Given the description of an element on the screen output the (x, y) to click on. 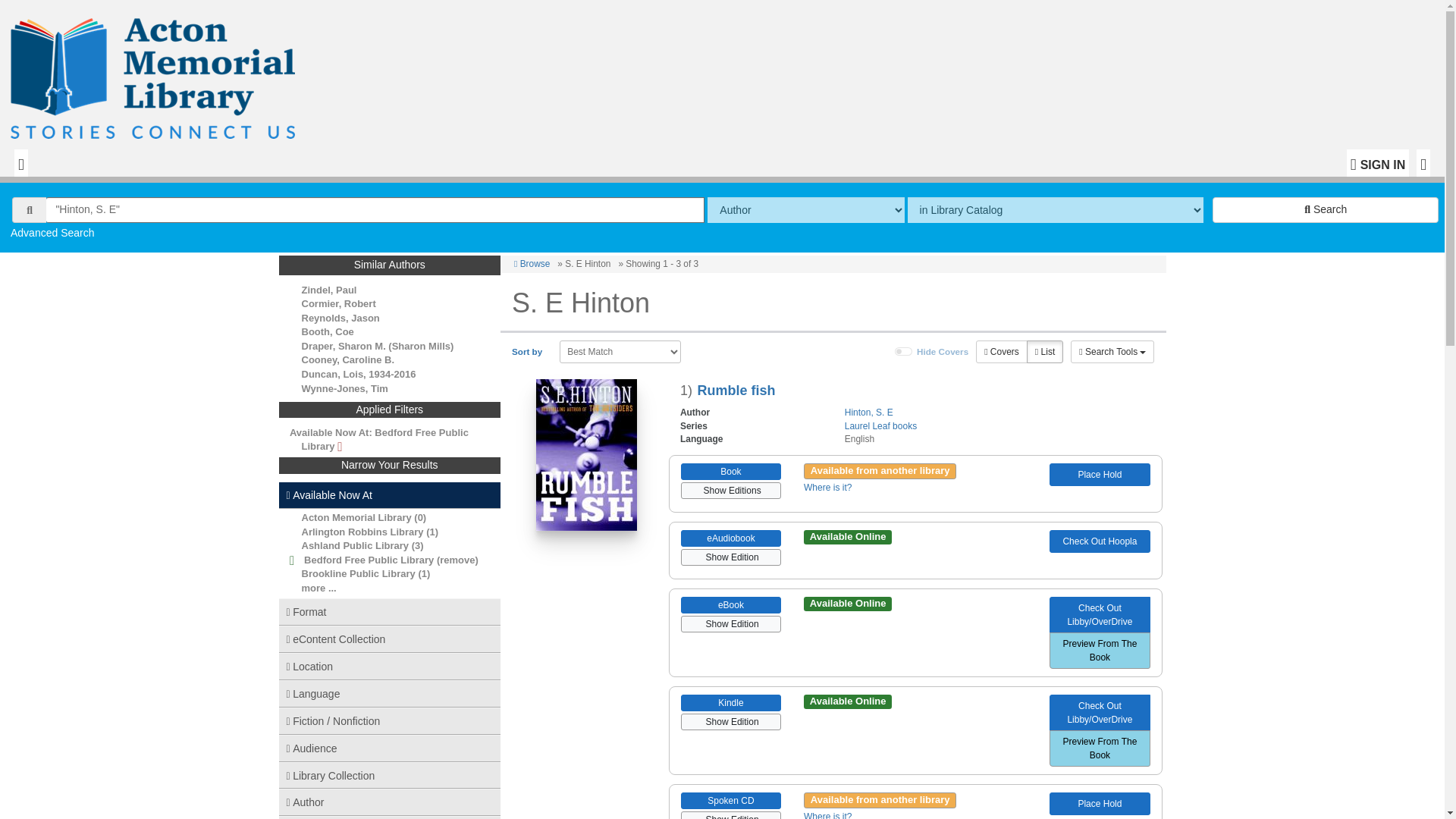
on (903, 351)
 Search (1325, 209)
Zindel, Paul (328, 289)
Reynolds, Jason (340, 317)
SIGN IN (1377, 162)
Wynne-Jones, Tim (344, 388)
"Hinton, S. E" (375, 209)
Cooney, Caroline B. (347, 359)
The method of searching. (805, 209)
Login (1377, 162)
Library Home Page (156, 74)
Booth, Coe (327, 331)
Advanced Search (52, 232)
Duncan, Lois, 1934-2016 (358, 374)
